Given the description of an element on the screen output the (x, y) to click on. 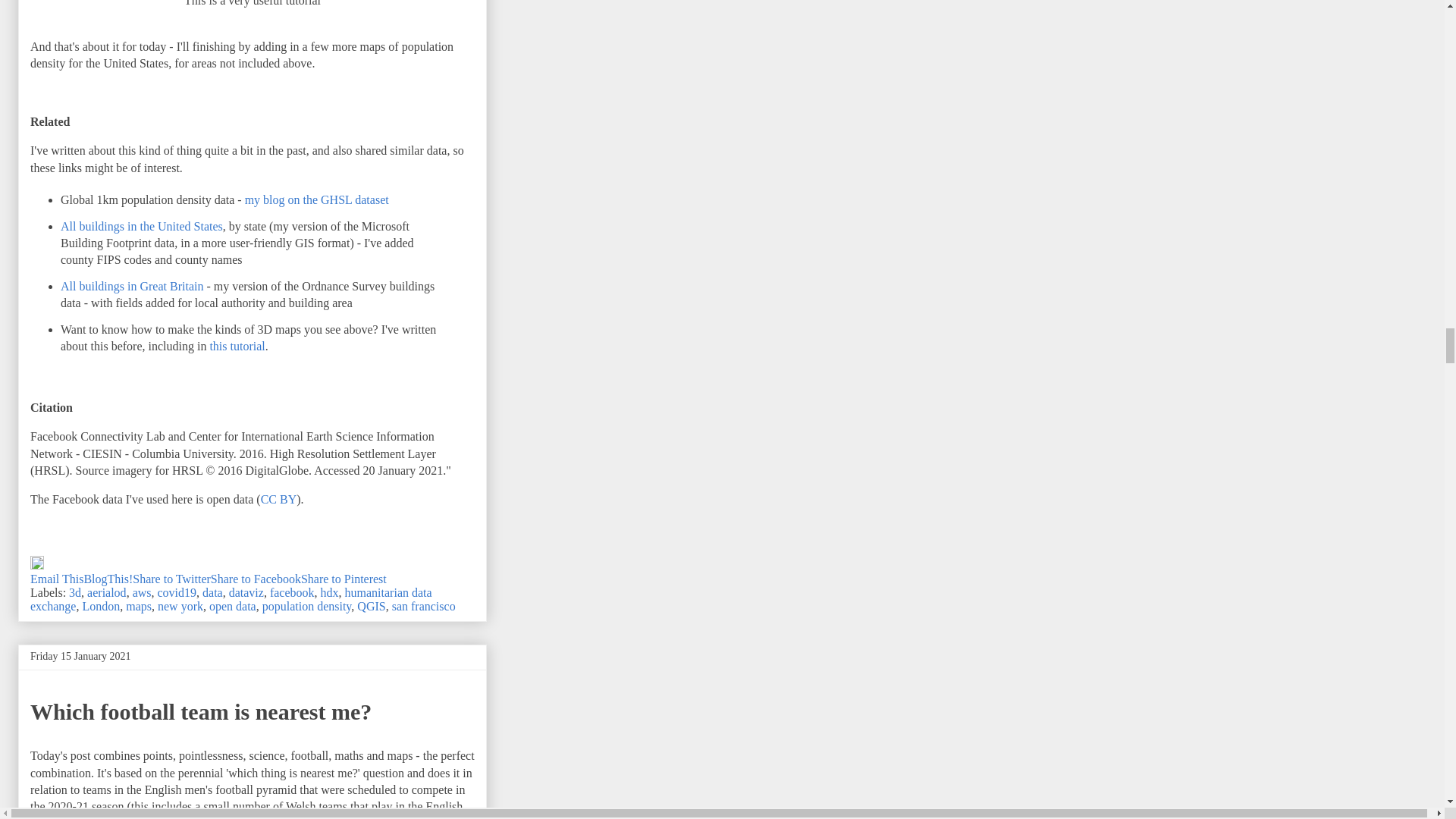
Email This (56, 578)
Share to Twitter (171, 578)
Edit Post (36, 564)
Share to Pinterest (344, 578)
Share to Facebook (256, 578)
BlogThis! (107, 578)
